Given the description of an element on the screen output the (x, y) to click on. 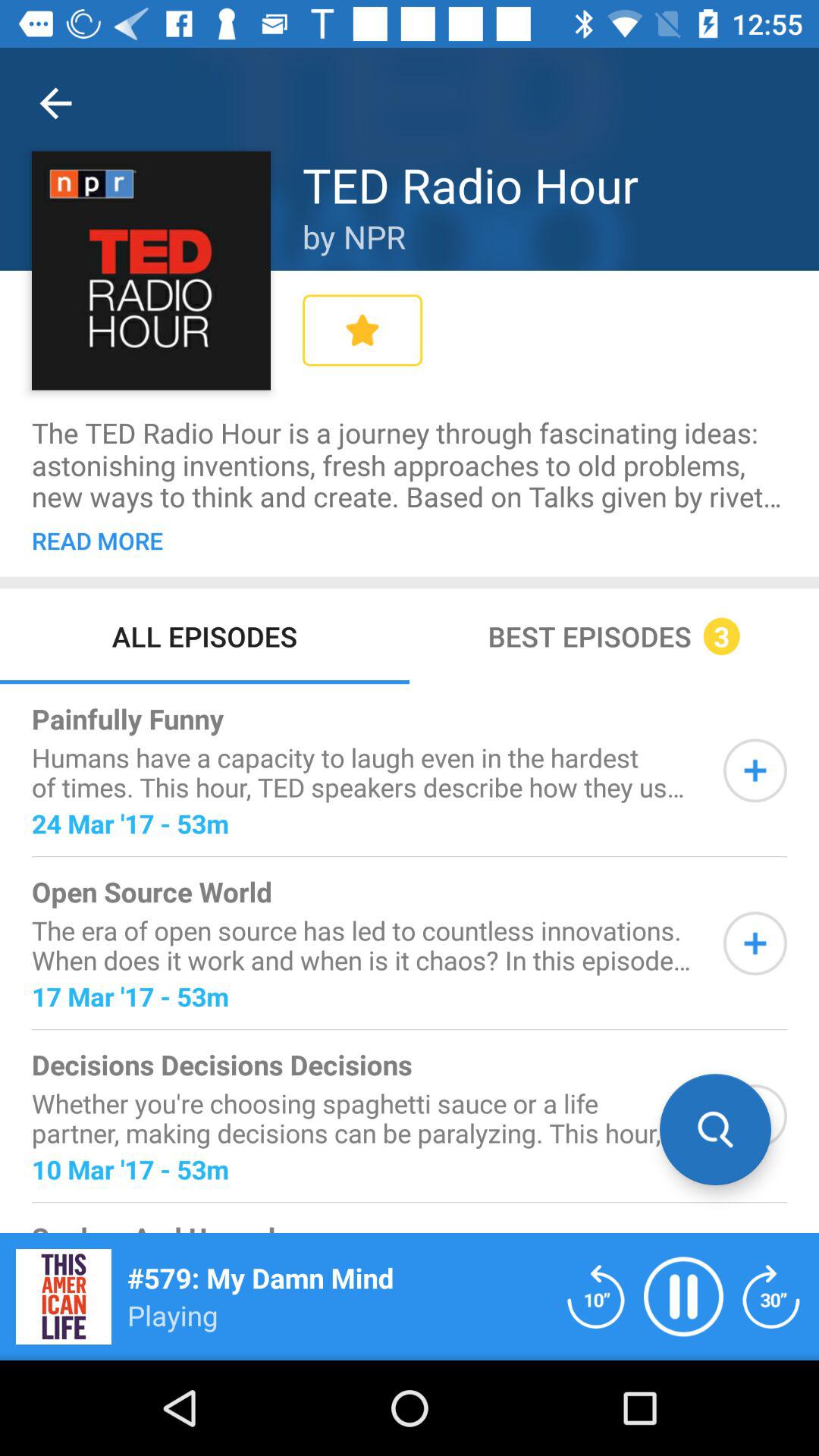
keyword search (755, 1116)
